Given the description of an element on the screen output the (x, y) to click on. 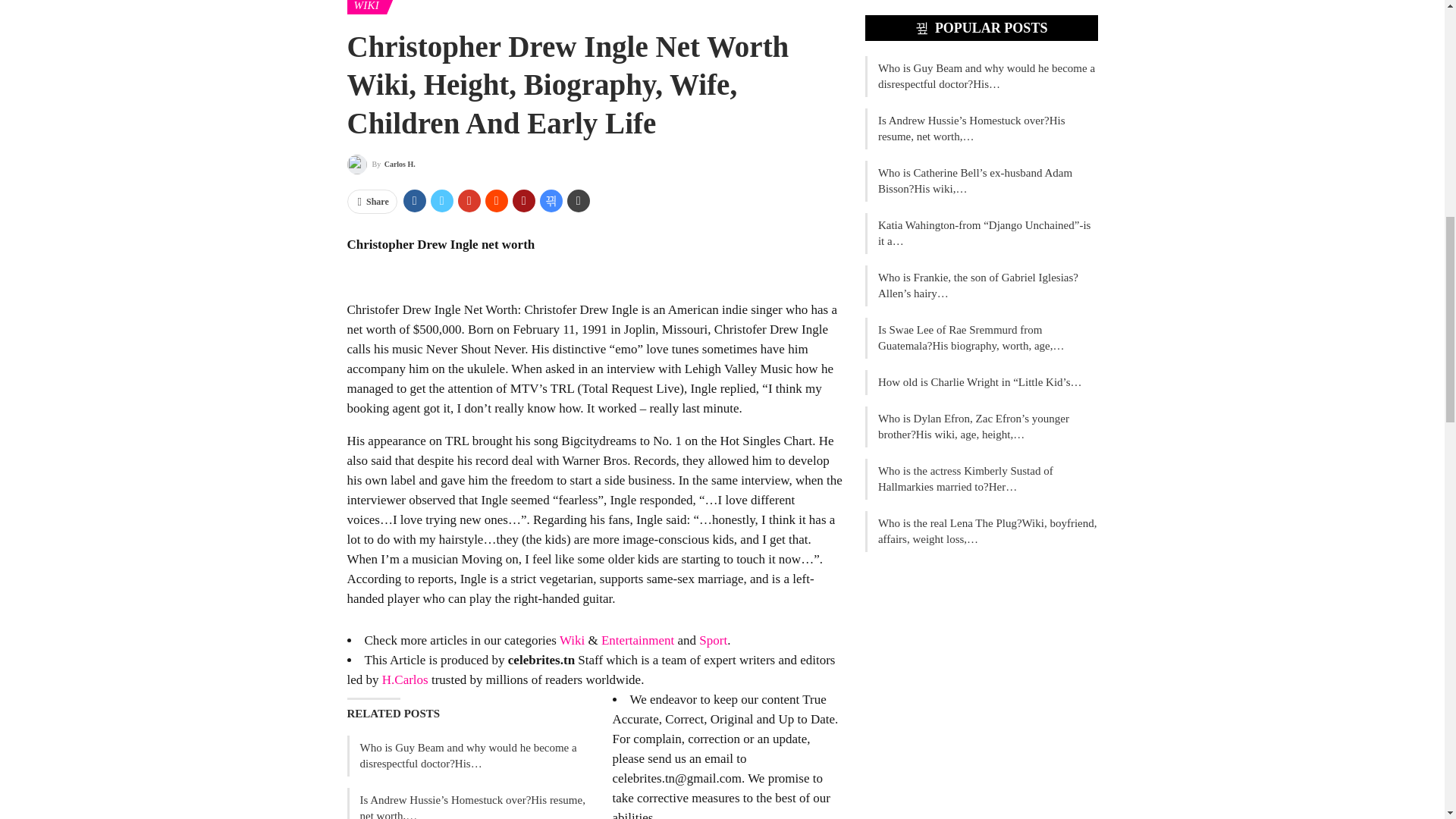
WIKI (366, 7)
By Carlos H. (380, 164)
Browse Author Articles (380, 164)
